Given the description of an element on the screen output the (x, y) to click on. 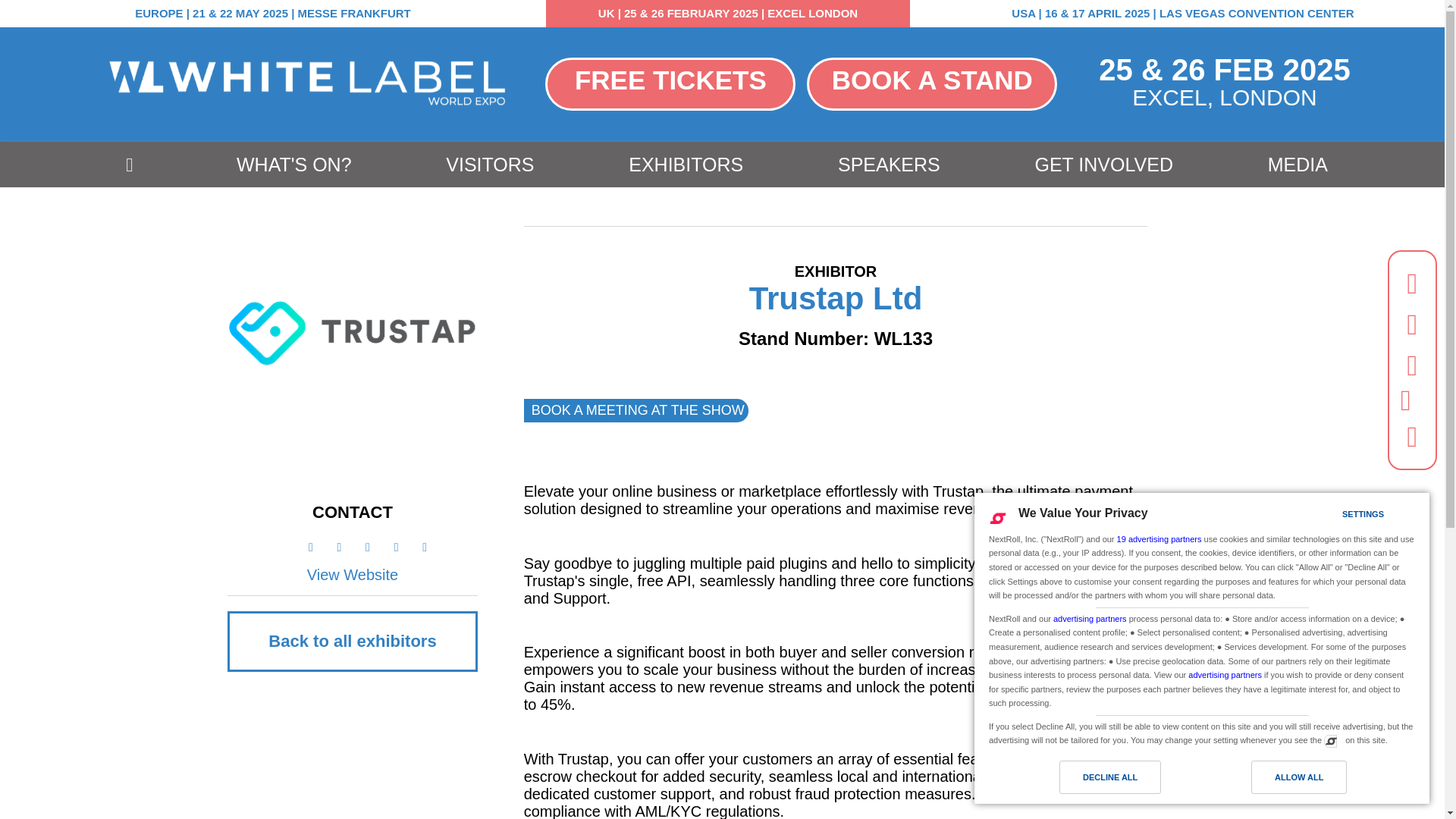
WHAT'S ON? (293, 165)
BOOK A STAND (931, 83)
FREE TICKETS (669, 83)
MEDIA (1297, 165)
SPEAKERS (888, 165)
back to all exhibitors (352, 640)
GET INVOLVED (1103, 165)
VISITORS (489, 165)
EXHIBITORS (685, 165)
Manage consent preferences (1330, 740)
